Given the description of an element on the screen output the (x, y) to click on. 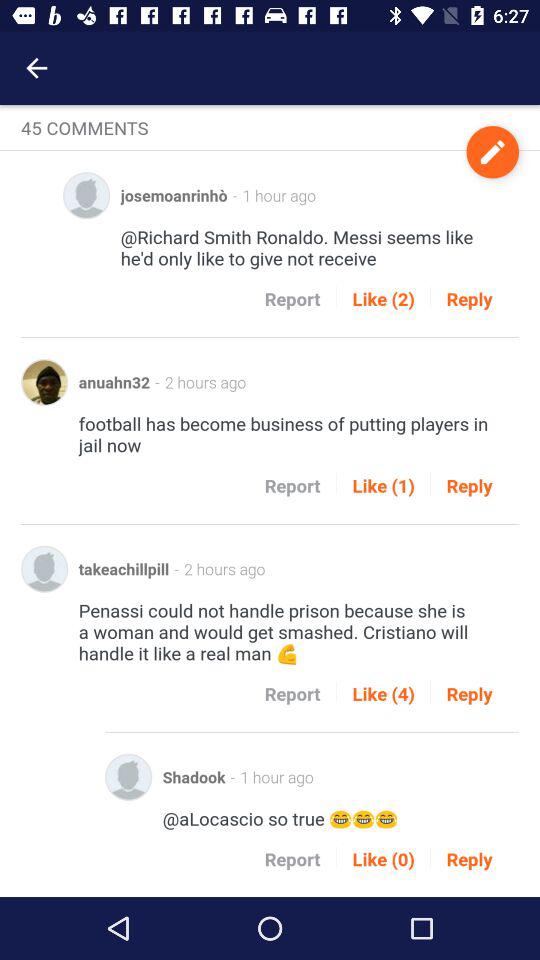
tap the icon to the right of the 1 hour ago item (492, 151)
